Given the description of an element on the screen output the (x, y) to click on. 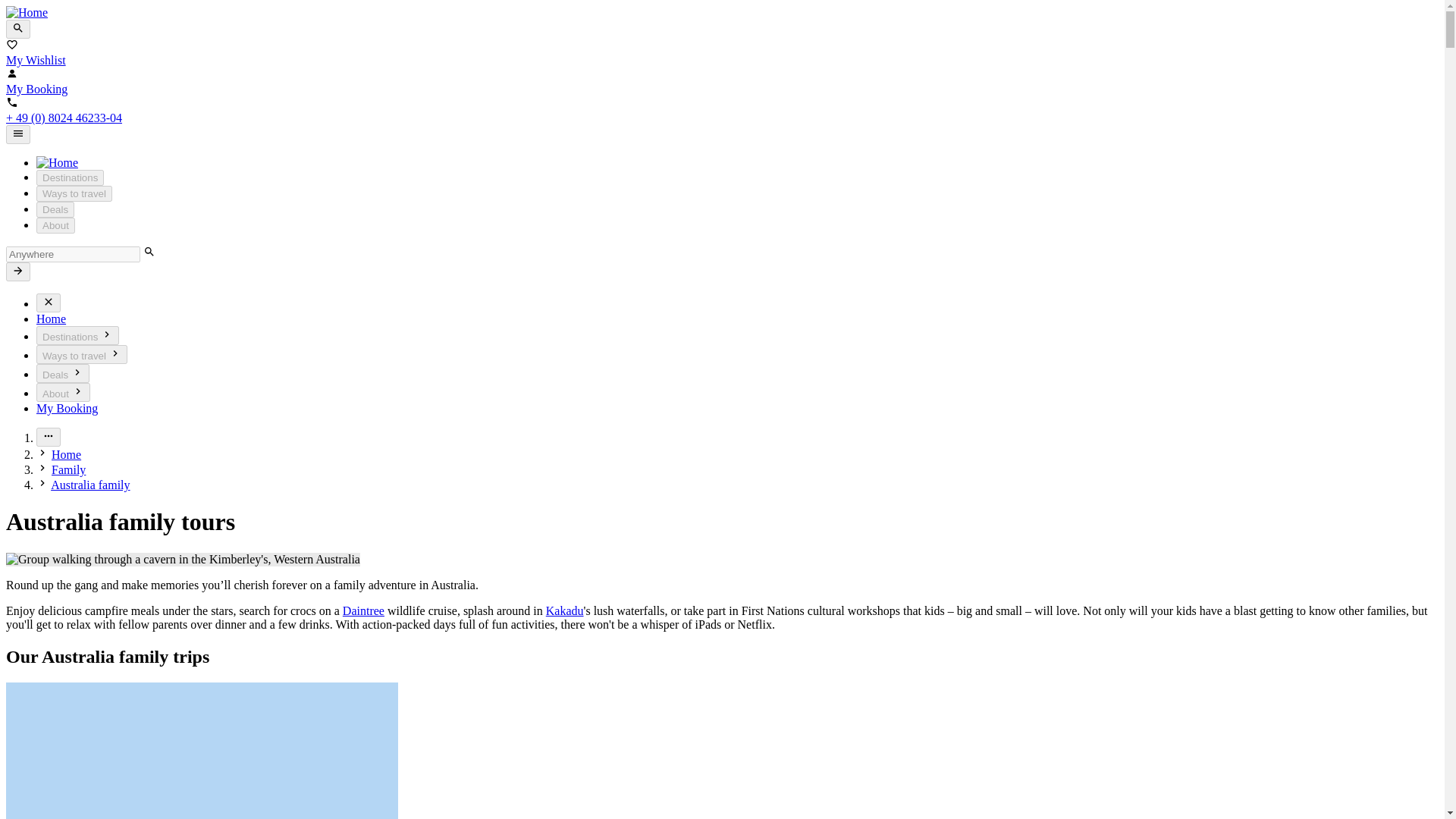
About (63, 392)
Home (50, 318)
My Booking (66, 408)
Ways to travel (82, 353)
About (55, 225)
Destinations (77, 334)
Destinations (69, 177)
Deals (55, 209)
Read more (48, 436)
Ways to travel (74, 193)
Deals (62, 373)
